Given the description of an element on the screen output the (x, y) to click on. 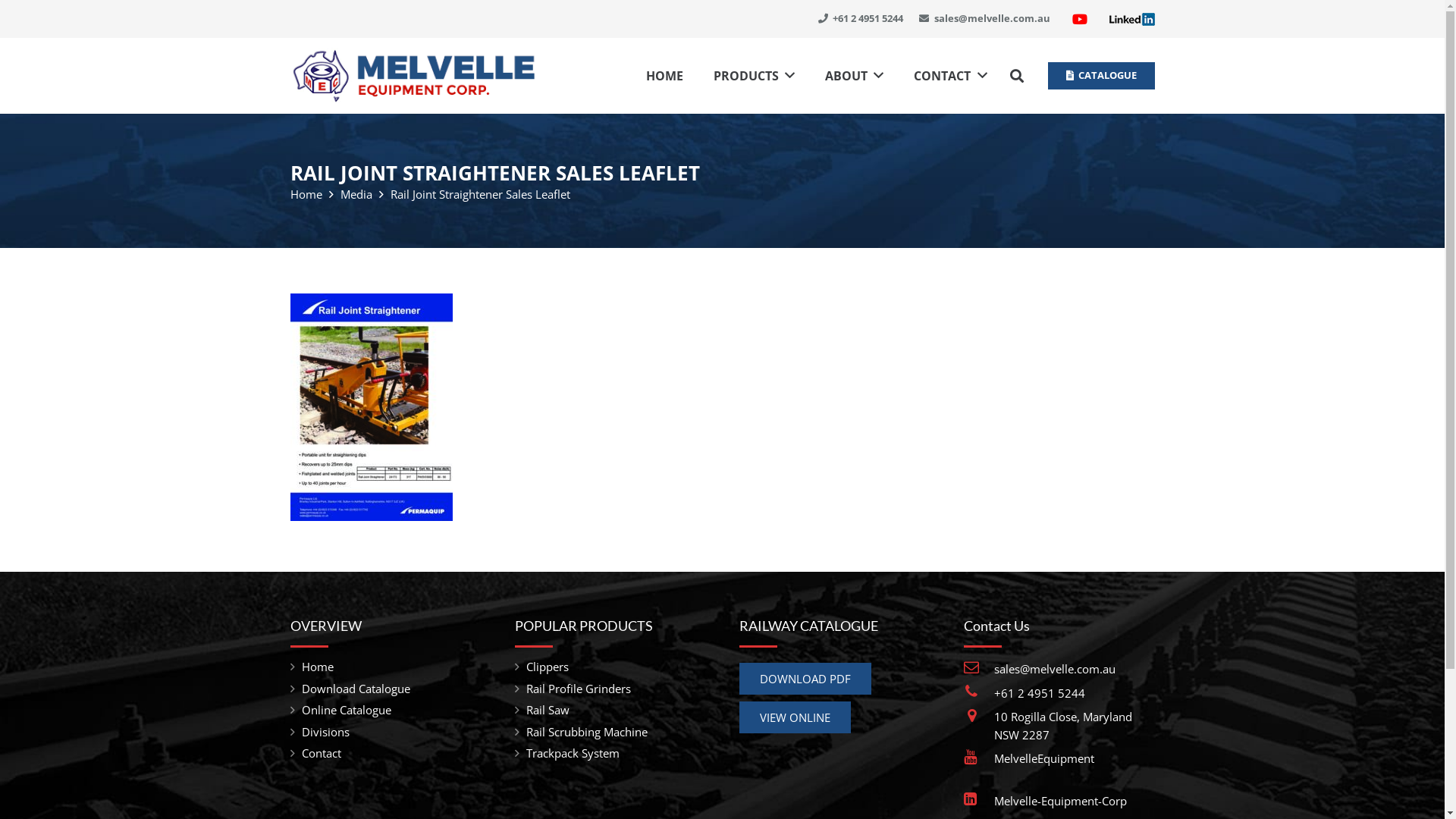
Rail Saw Element type: text (547, 709)
+61 2 4951 5244 Element type: text (860, 18)
Melvelle-Equipment-Corp Element type: text (1060, 800)
Online Catalogue Element type: text (346, 709)
VIEW ONLINE Element type: text (794, 717)
Divisions Element type: text (325, 731)
Contact Element type: text (321, 752)
Rail Profile Grinders Element type: text (578, 688)
Rail Scrubbing Machine Element type: text (586, 731)
PRODUCTS Element type: text (753, 75)
+61 2 4951 5244 Element type: text (1039, 692)
MelvelleEquipment Element type: text (1044, 757)
Rail Joint Straightener Sales Leaflet Element type: text (479, 193)
ABOUT Element type: text (853, 75)
Download Catalogue Element type: text (355, 688)
CATALOGUE Element type: text (1101, 75)
Home Element type: text (317, 666)
CONTACT Element type: text (949, 75)
sales@melvelle.com.au Element type: text (984, 18)
Clippers Element type: text (547, 666)
DOWNLOAD PDF Element type: text (805, 678)
Trackpack System Element type: text (572, 752)
HOME Element type: text (664, 75)
YouTube Element type: hover (1079, 18)
10 Rogilla Close, Maryland NSW 2287 Element type: text (1063, 725)
sales@melvelle.com.au Element type: text (1054, 668)
Home Element type: text (305, 193)
